Given the description of an element on the screen output the (x, y) to click on. 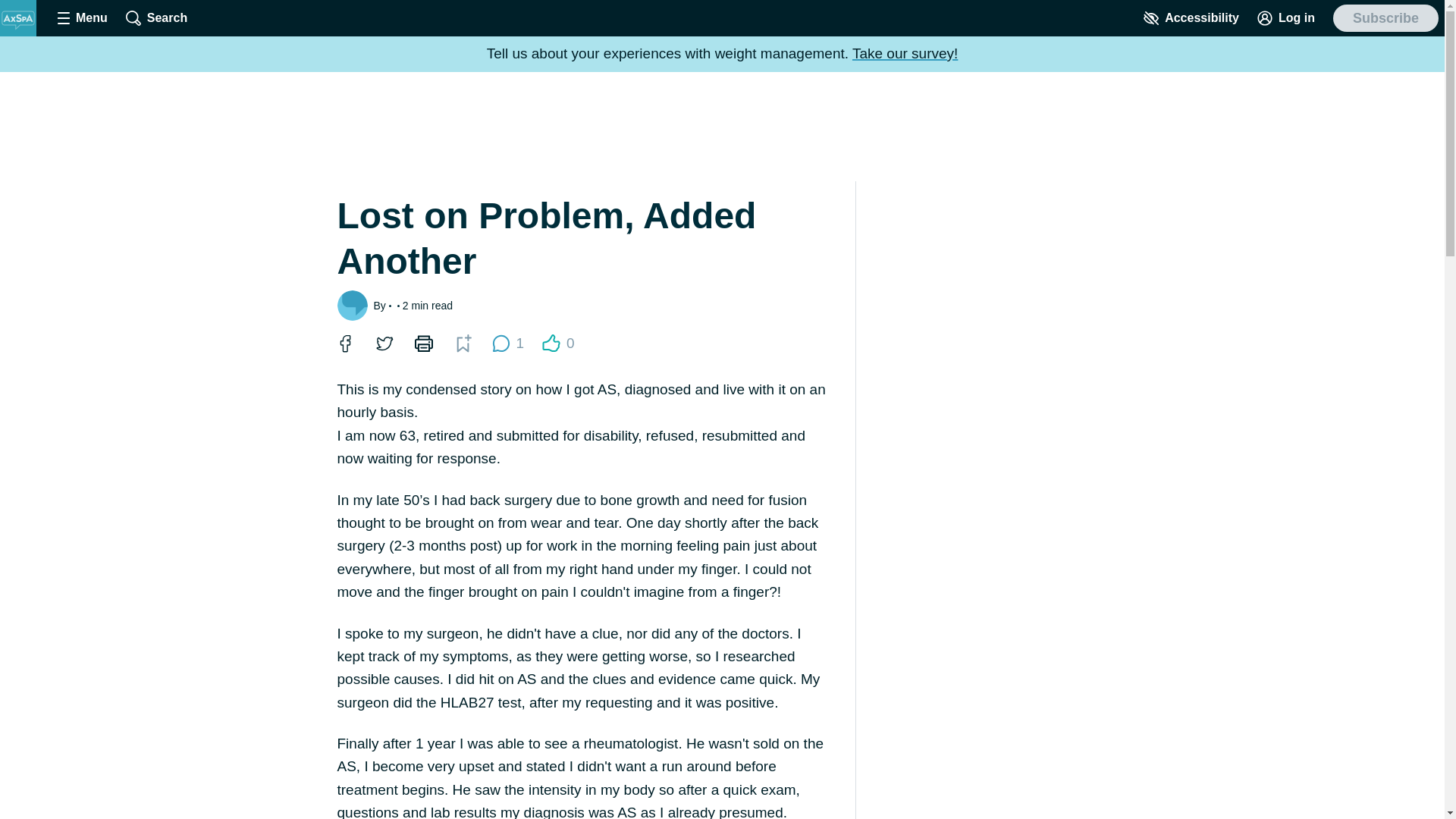
print page (422, 343)
comment (500, 343)
Share to Facebook (344, 343)
Log in (1285, 18)
Share to Facebook (343, 343)
Share to Twitter (557, 343)
Search (383, 343)
Reactions (156, 18)
Accessibility (550, 343)
print page (1190, 18)
Menu (422, 343)
Bookmark for later (82, 18)
Bookmark for later (461, 343)
Take our survey! (462, 343)
